Given the description of an element on the screen output the (x, y) to click on. 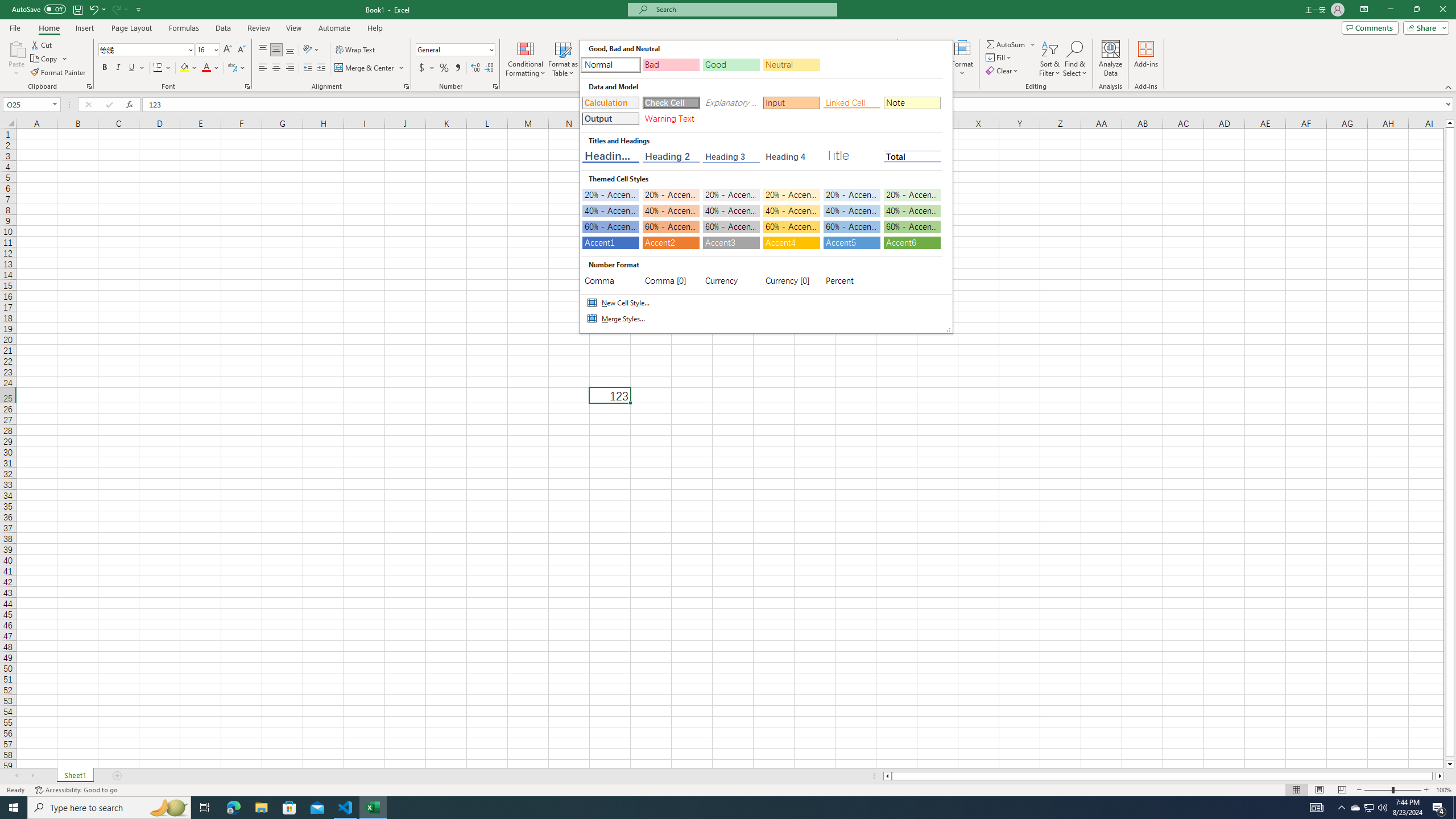
Underline (136, 67)
Decrease Decimal (489, 67)
Show Phonetic Field (236, 67)
Bottom Align (290, 49)
Bottom Border (157, 67)
Type here to search (108, 807)
Fill (999, 56)
